Given the description of an element on the screen output the (x, y) to click on. 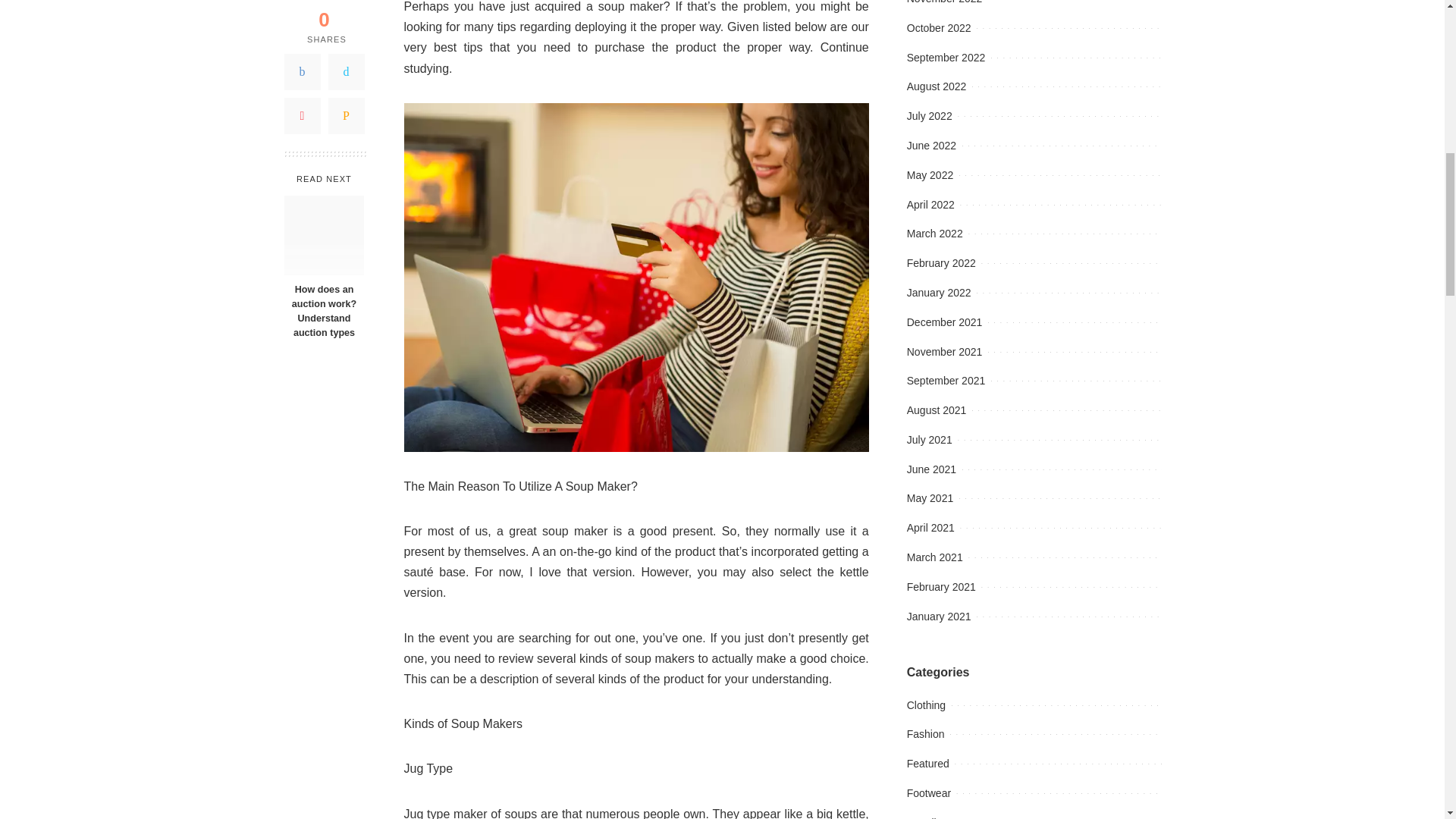
How does an auction work? Understand auction types (323, 300)
Email (345, 104)
How does an auction work? Understand auction types (323, 300)
How does an auction work? Understand auction types (323, 223)
Facebook (301, 60)
Pinterest (301, 104)
Twitter (345, 60)
